Given the description of an element on the screen output the (x, y) to click on. 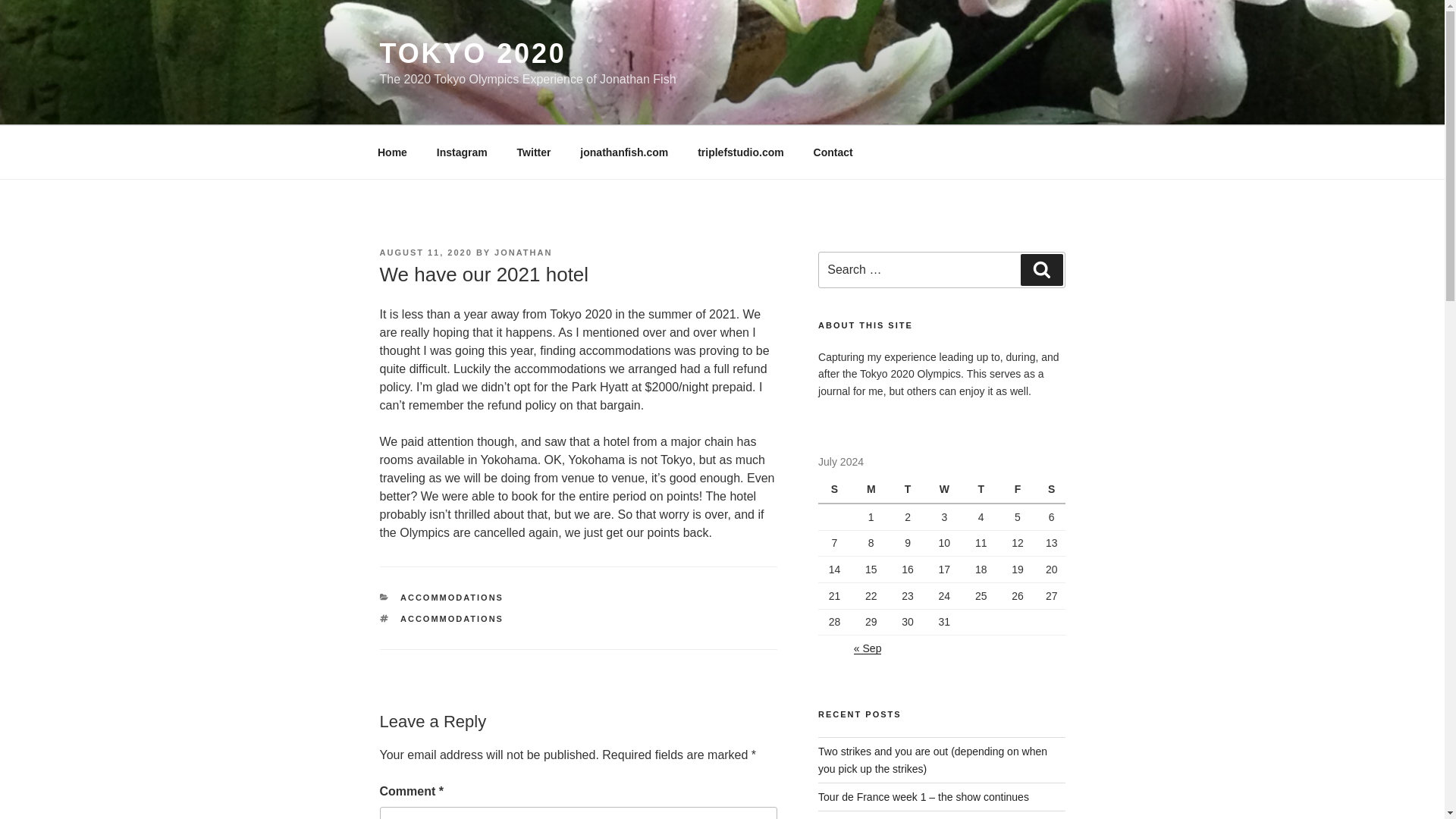
Sunday (836, 489)
ACCOMMODATIONS (451, 596)
Friday (1019, 489)
Wednesday (945, 489)
Saturday (1051, 489)
Instagram (461, 151)
triplefstudio.com (740, 151)
Search (1041, 269)
AUGUST 11, 2020 (424, 252)
Tuesday (909, 489)
ACCOMMODATIONS (451, 618)
Thursday (982, 489)
Twitter (533, 151)
JONATHAN (523, 252)
Monday (872, 489)
